Given the description of an element on the screen output the (x, y) to click on. 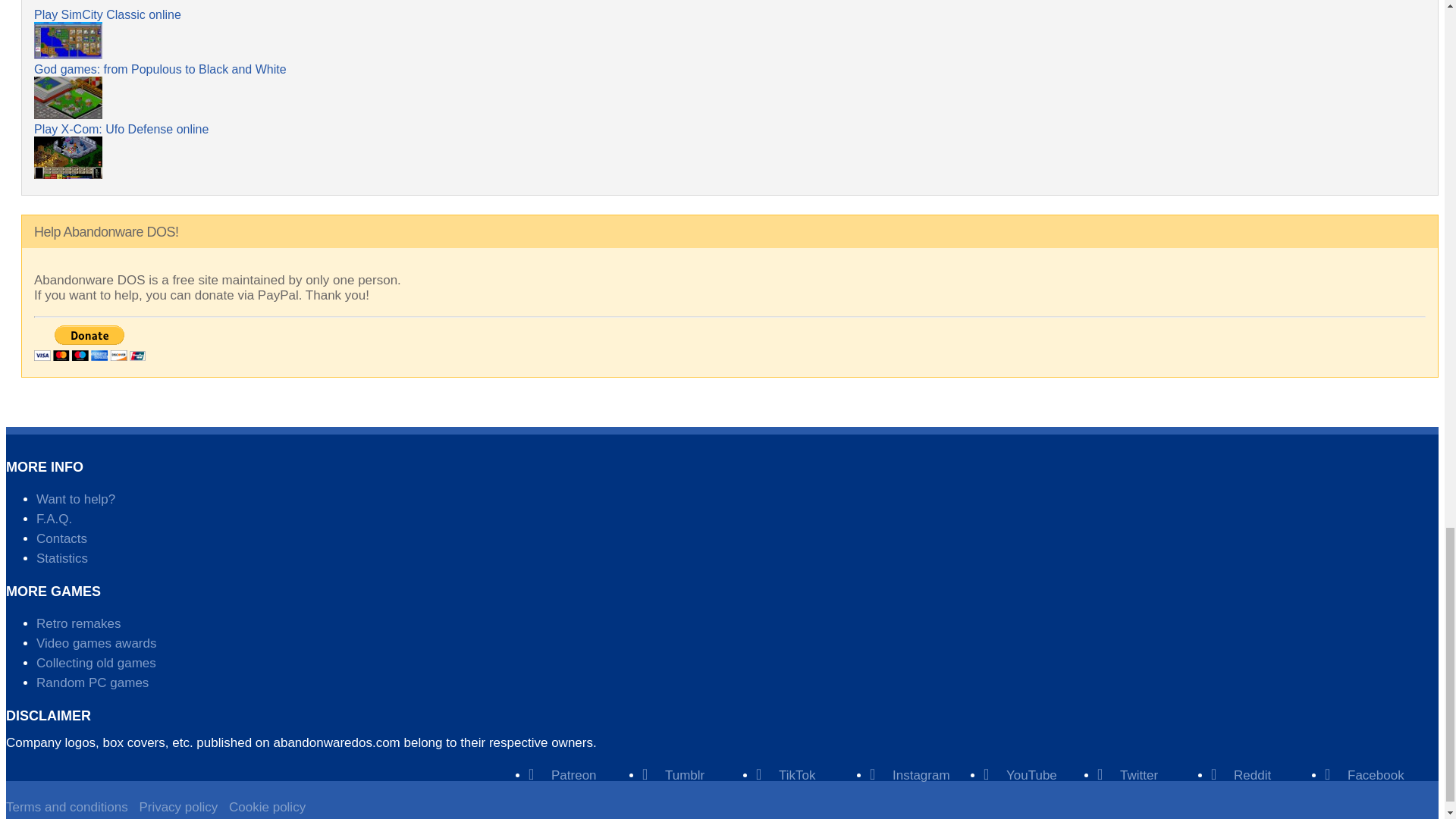
PayPal - The safer, easier way to pay online! (89, 343)
